Given the description of an element on the screen output the (x, y) to click on. 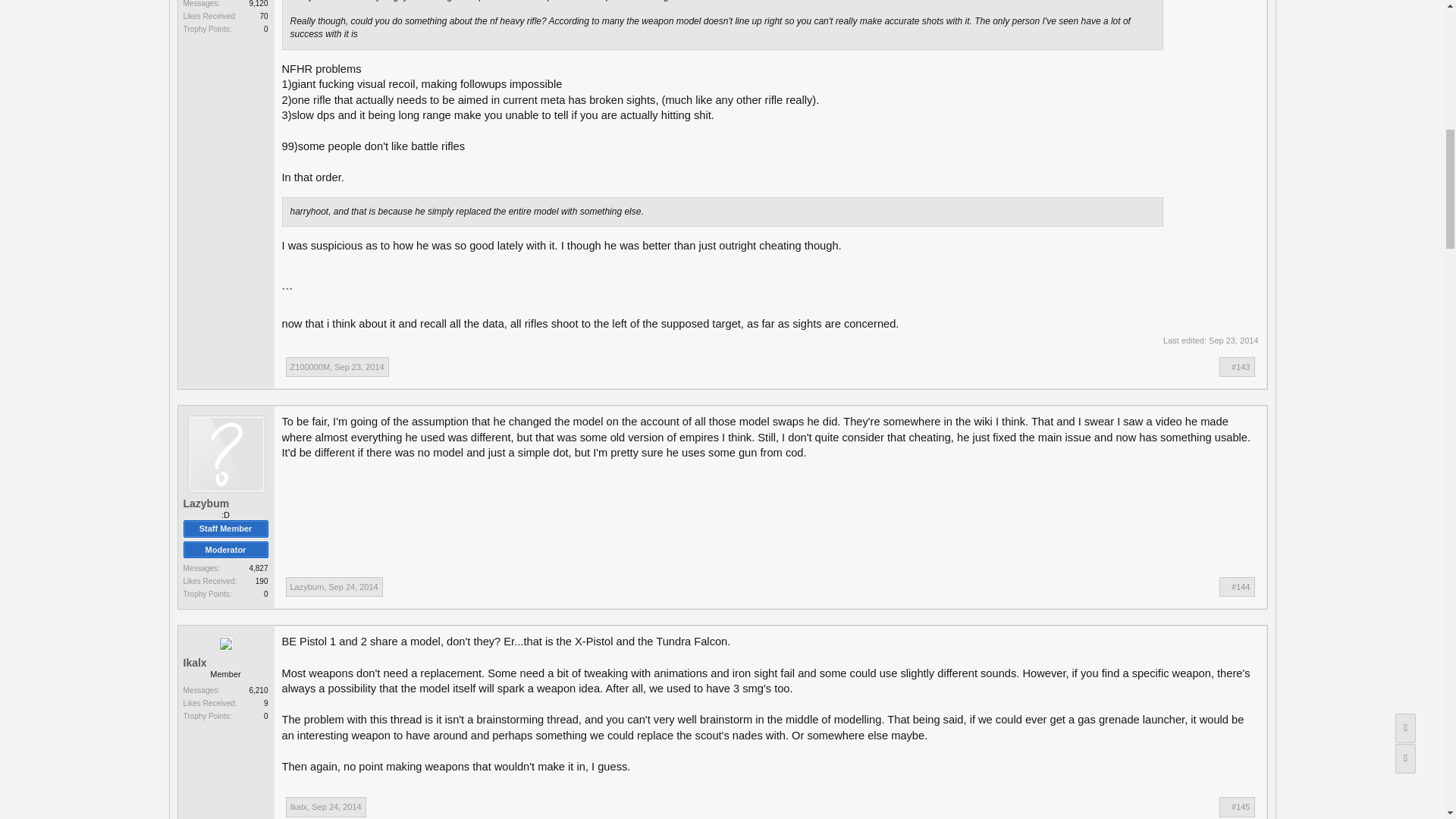
Permalink (353, 586)
Permalink (359, 366)
Permalink (1240, 366)
9,120 (257, 3)
Z100000M (309, 366)
Permalink (1240, 586)
Sep 23, 2014 at 11:10 PM (1232, 339)
Permalink (336, 806)
